Given the description of an element on the screen output the (x, y) to click on. 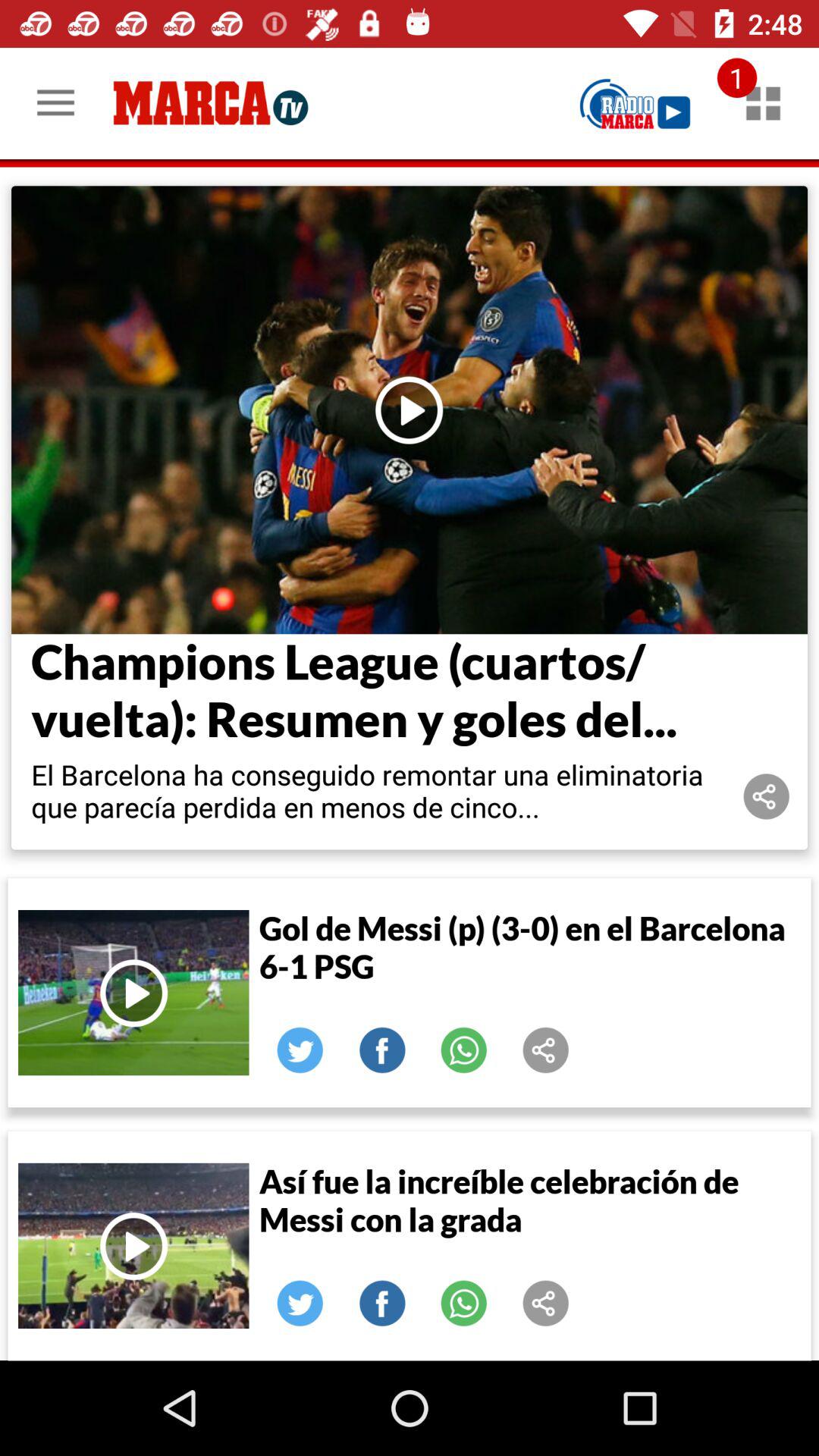
share this clip (545, 1303)
